Given the description of an element on the screen output the (x, y) to click on. 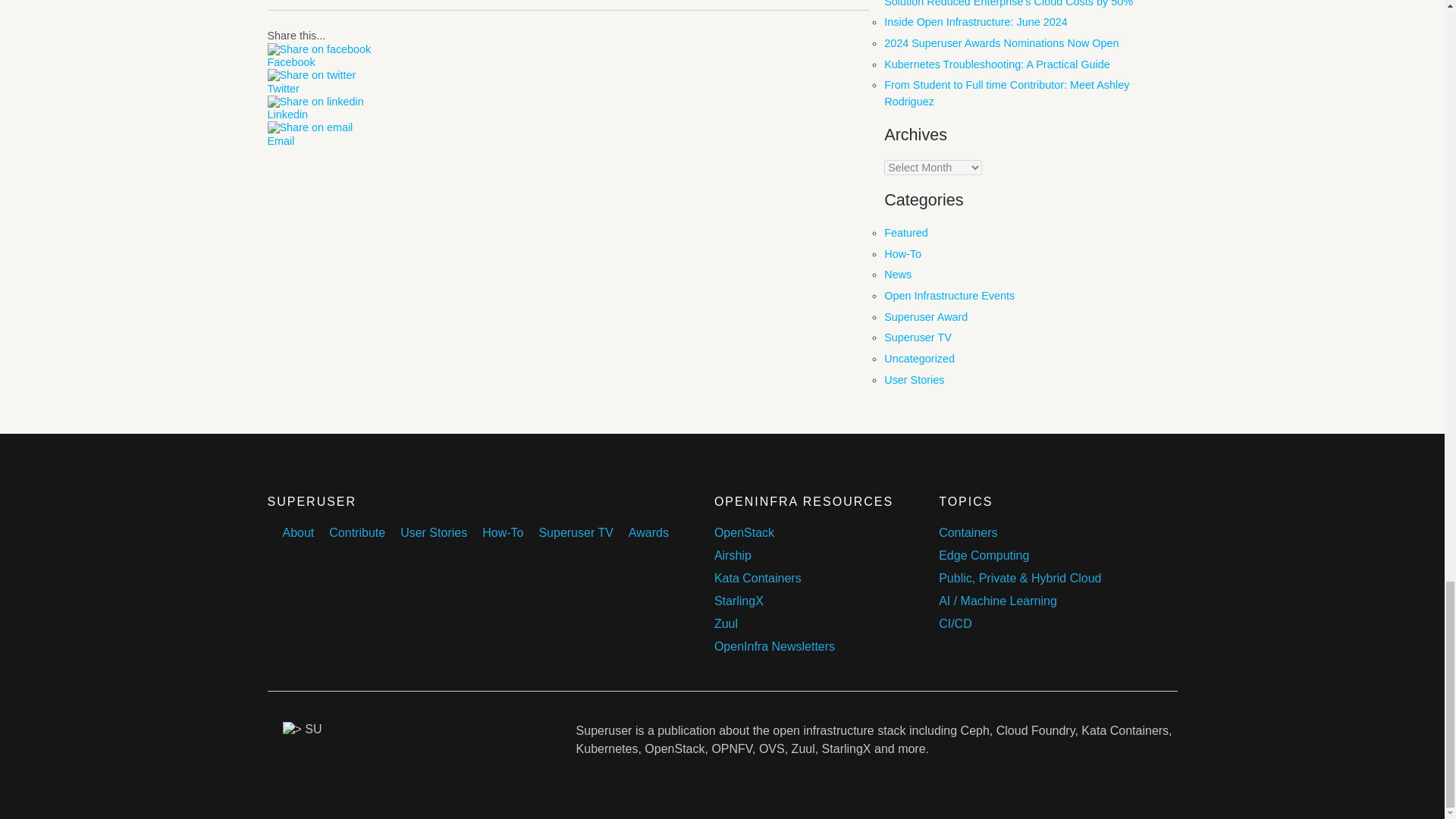
linkedin (314, 101)
Linkedin (566, 114)
facebook (318, 49)
email (309, 127)
Facebook (566, 62)
Twitter (566, 88)
twitter (310, 74)
Email (566, 141)
